Given the description of an element on the screen output the (x, y) to click on. 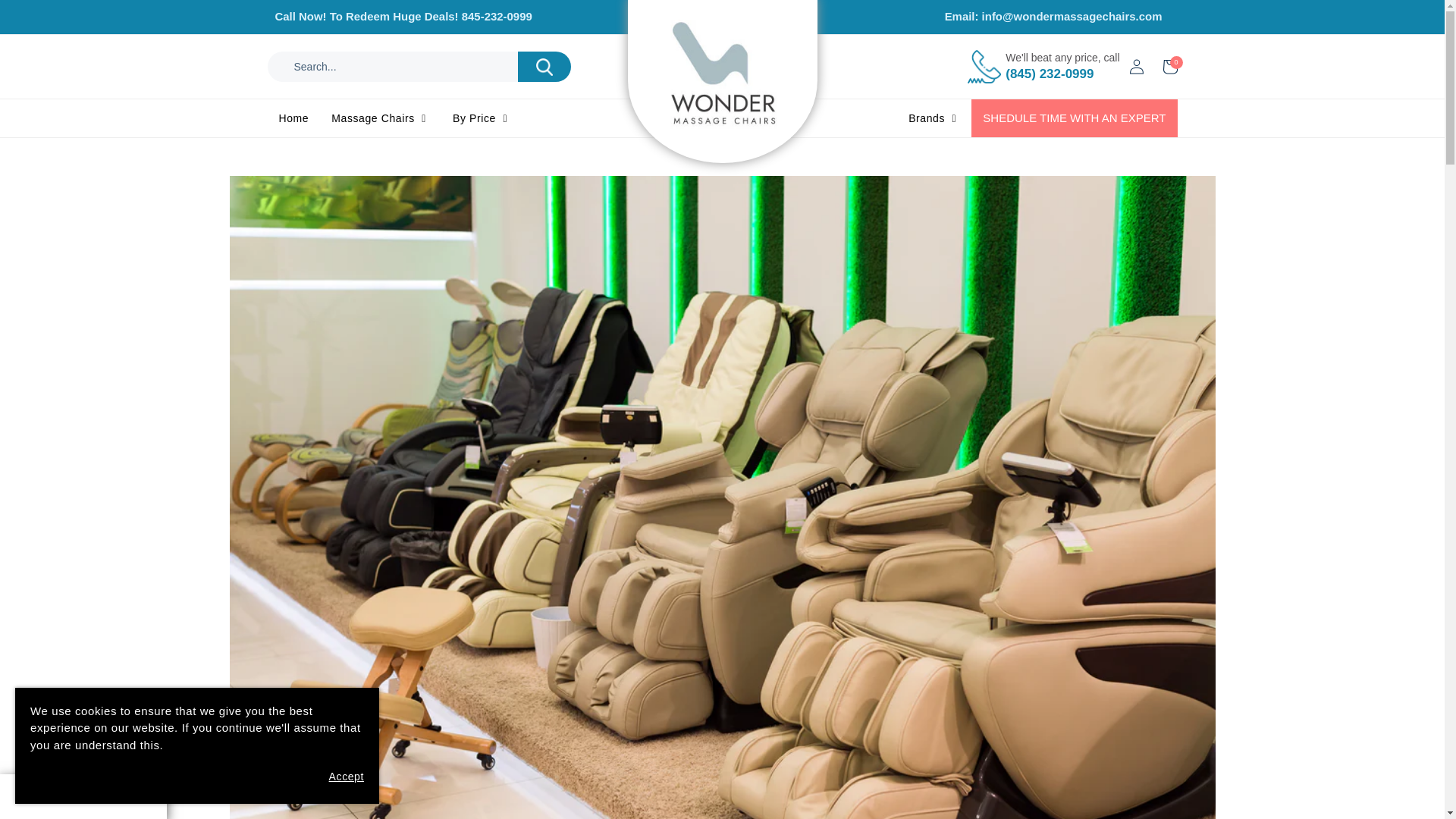
Skip to content (45, 16)
Call Now! To Redeem Huge Deals! 845-232-0999 (498, 16)
